Given the description of an element on the screen output the (x, y) to click on. 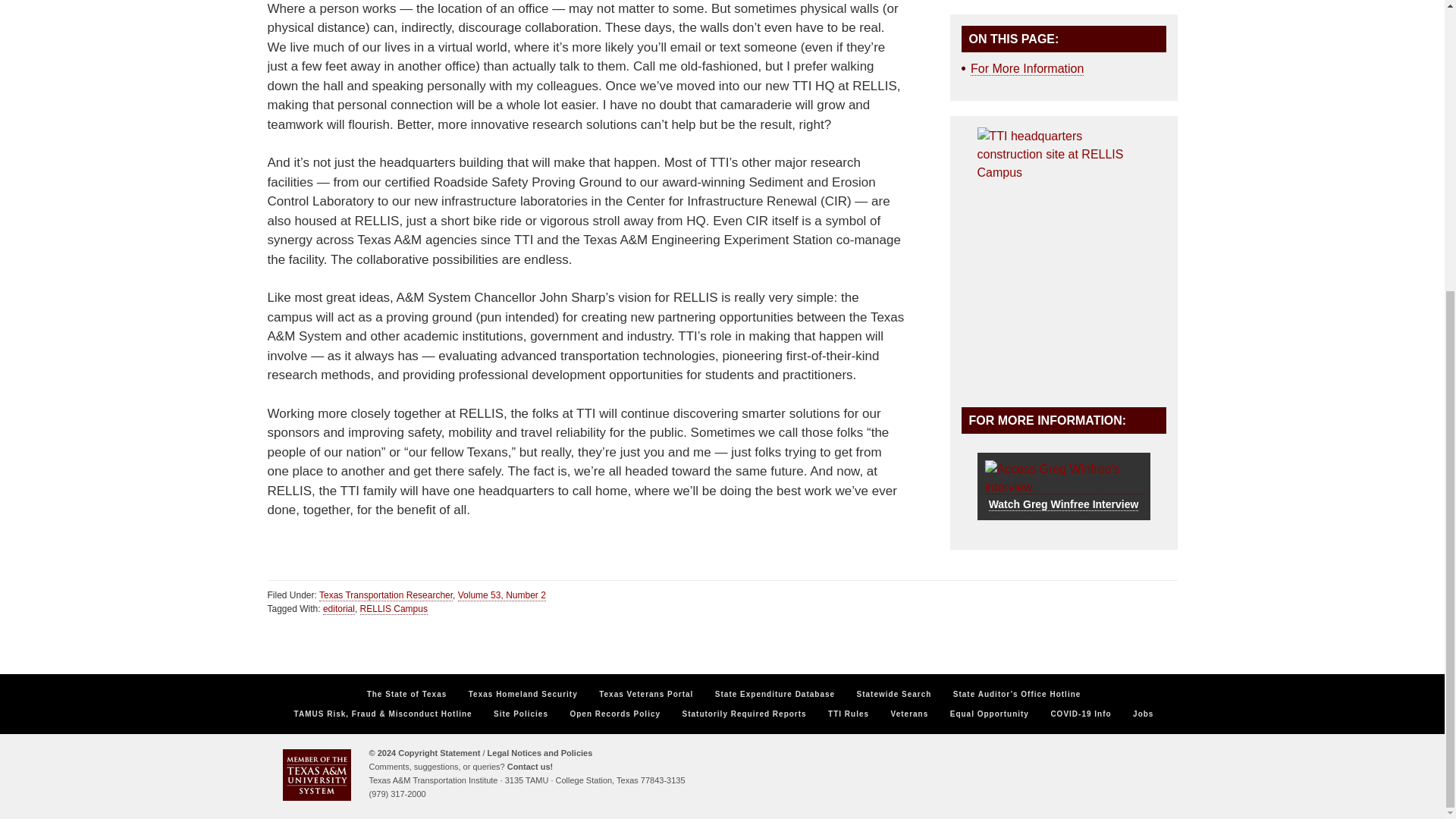
Watch Greg Winfree Interview (1062, 487)
